Given the description of an element on the screen output the (x, y) to click on. 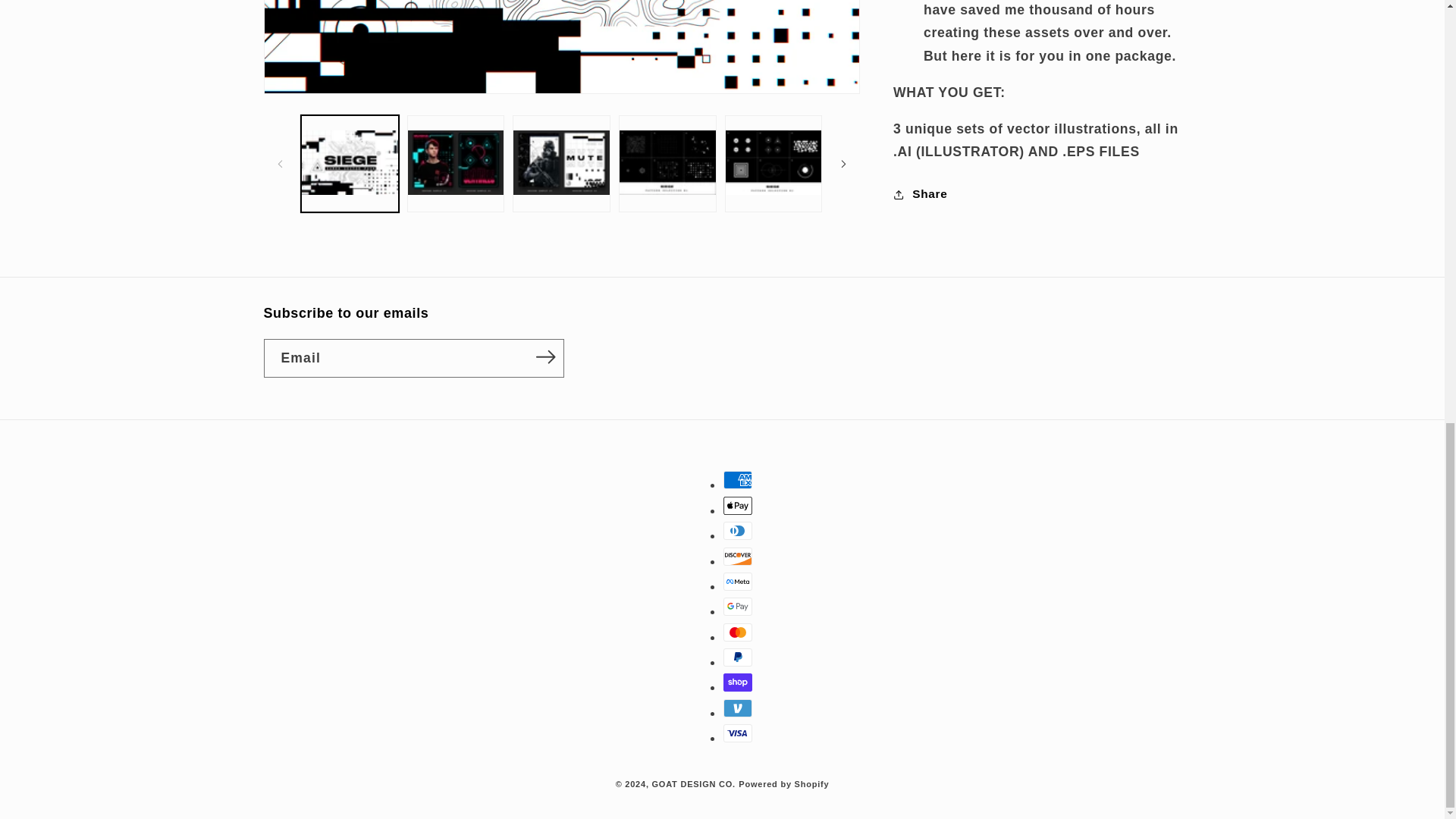
Apple Pay (737, 505)
Discover (737, 556)
American Express (737, 479)
Diners Club (737, 530)
Shop Pay (737, 682)
Mastercard (737, 632)
Venmo (737, 708)
Visa (737, 732)
PayPal (737, 657)
Google Pay (737, 606)
